Given the description of an element on the screen output the (x, y) to click on. 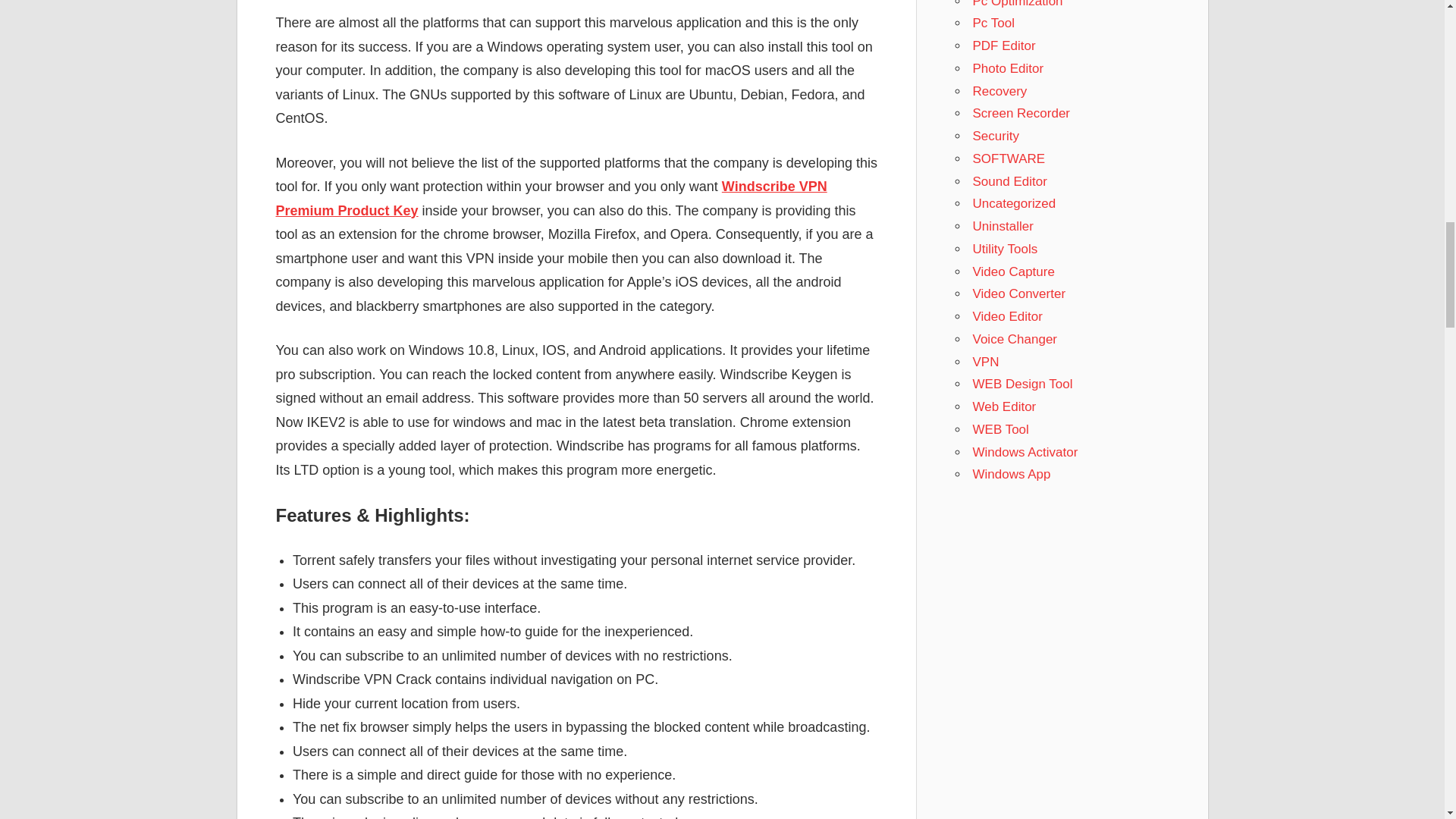
Windscribe VPN Premium Product Key (551, 198)
